Given the description of an element on the screen output the (x, y) to click on. 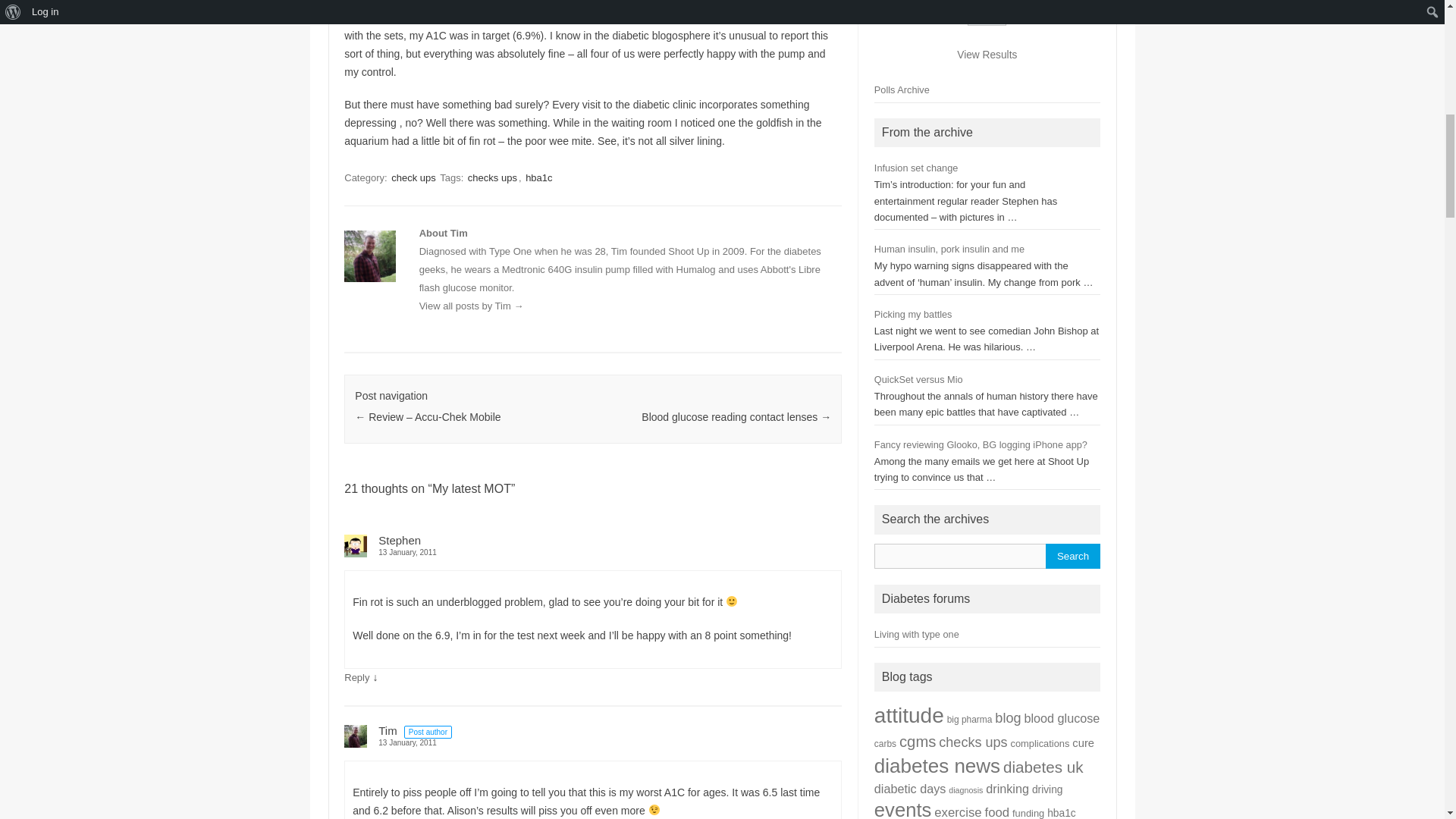
   Vote    (987, 19)
Search (1072, 555)
View Results Of This Poll (986, 54)
check ups (414, 177)
hba1c (538, 177)
checks ups (491, 177)
